Given the description of an element on the screen output the (x, y) to click on. 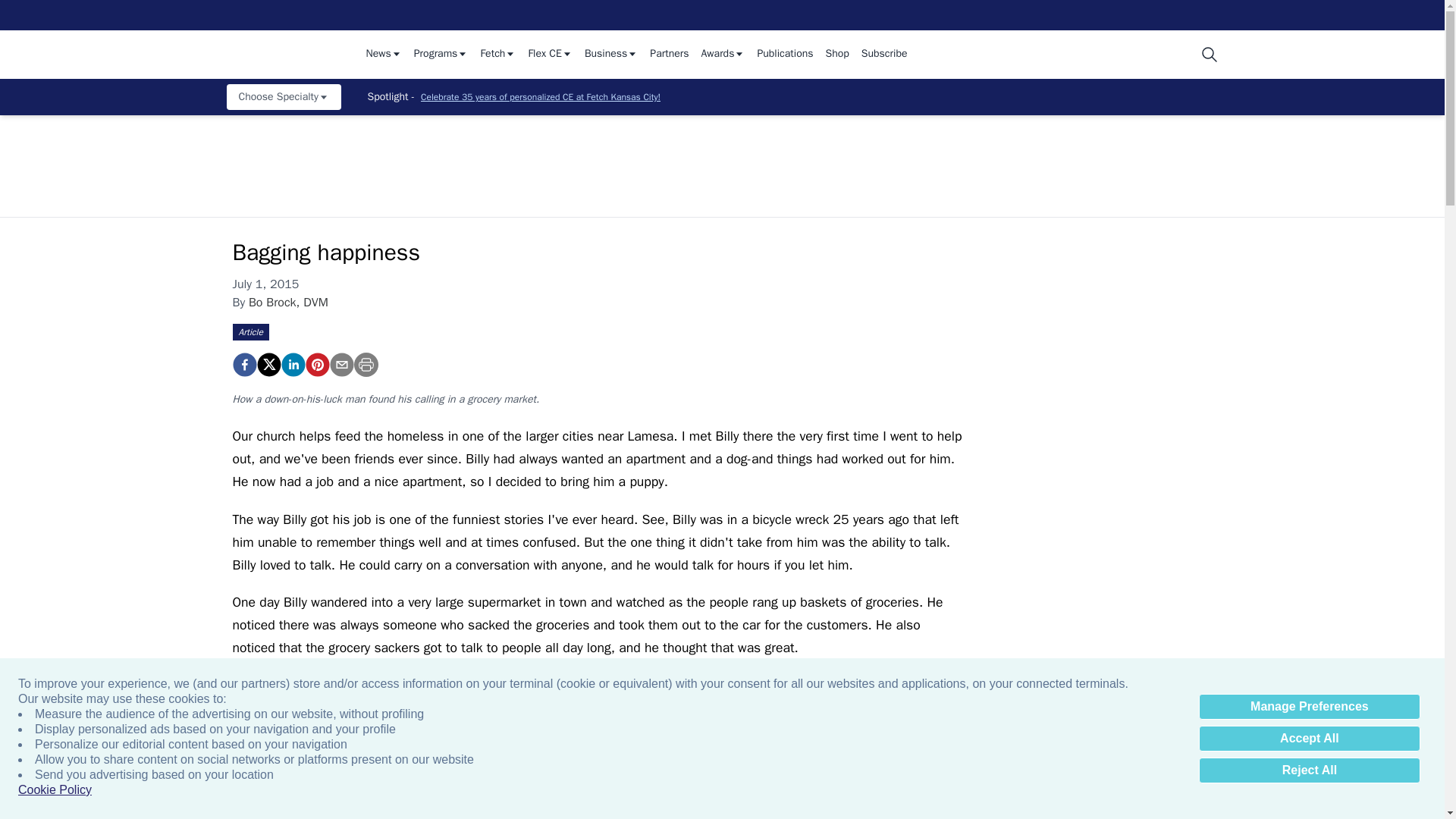
Flex CE (549, 54)
Accept All (1309, 738)
Reject All (1309, 769)
Cookie Policy (54, 789)
Business (611, 54)
Fetch (497, 54)
Bagging happiness (243, 364)
Bagging happiness (316, 364)
Programs (440, 54)
News (383, 54)
Manage Preferences (1309, 706)
